Given the description of an element on the screen output the (x, y) to click on. 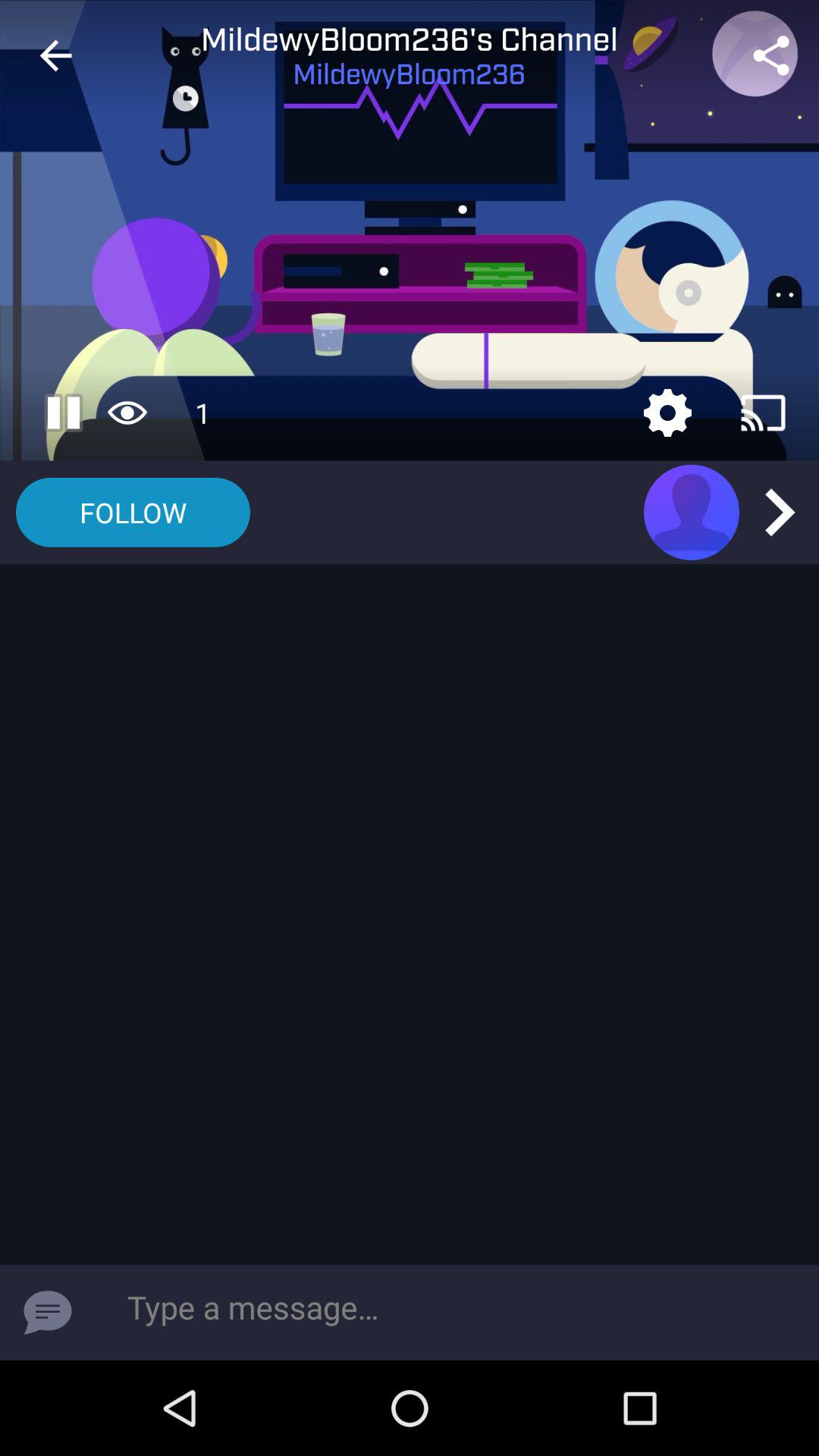
go to settings (667, 412)
